Given the description of an element on the screen output the (x, y) to click on. 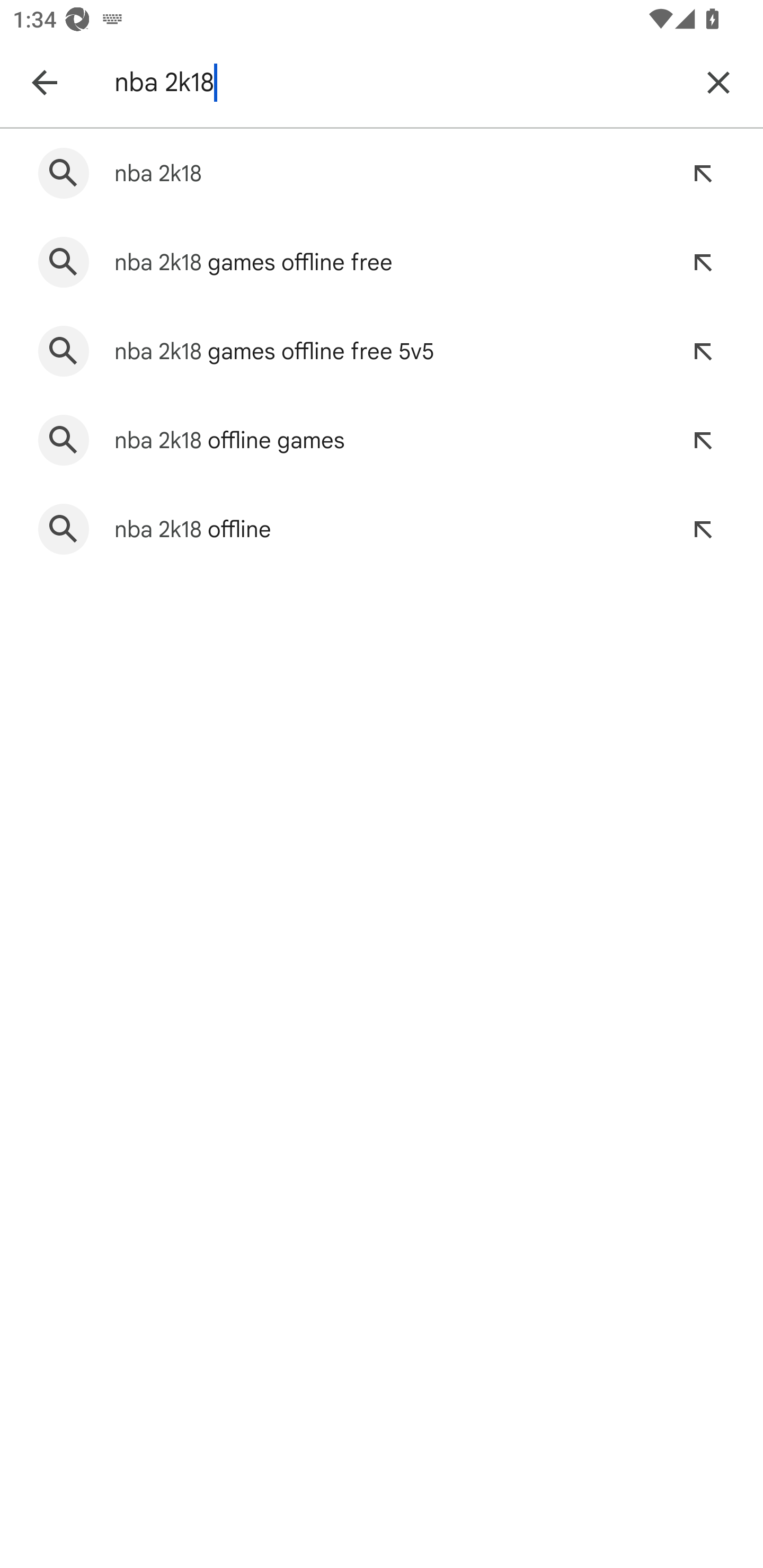
Navigate up (44, 81)
nba 2k18 (397, 81)
Clear (718, 81)
Search for "nba 2k18"  Refine search to "nba 2k18" (381, 172)
Refine search to "nba 2k18" (702, 172)
Refine search to "nba 2k18 games offline free" (702, 262)
Refine search to "nba 2k18 games offline free 5v5" (702, 351)
Refine search to "nba 2k18 offline games" (702, 439)
Refine search to "nba 2k18 offline" (702, 528)
